Given the description of an element on the screen output the (x, y) to click on. 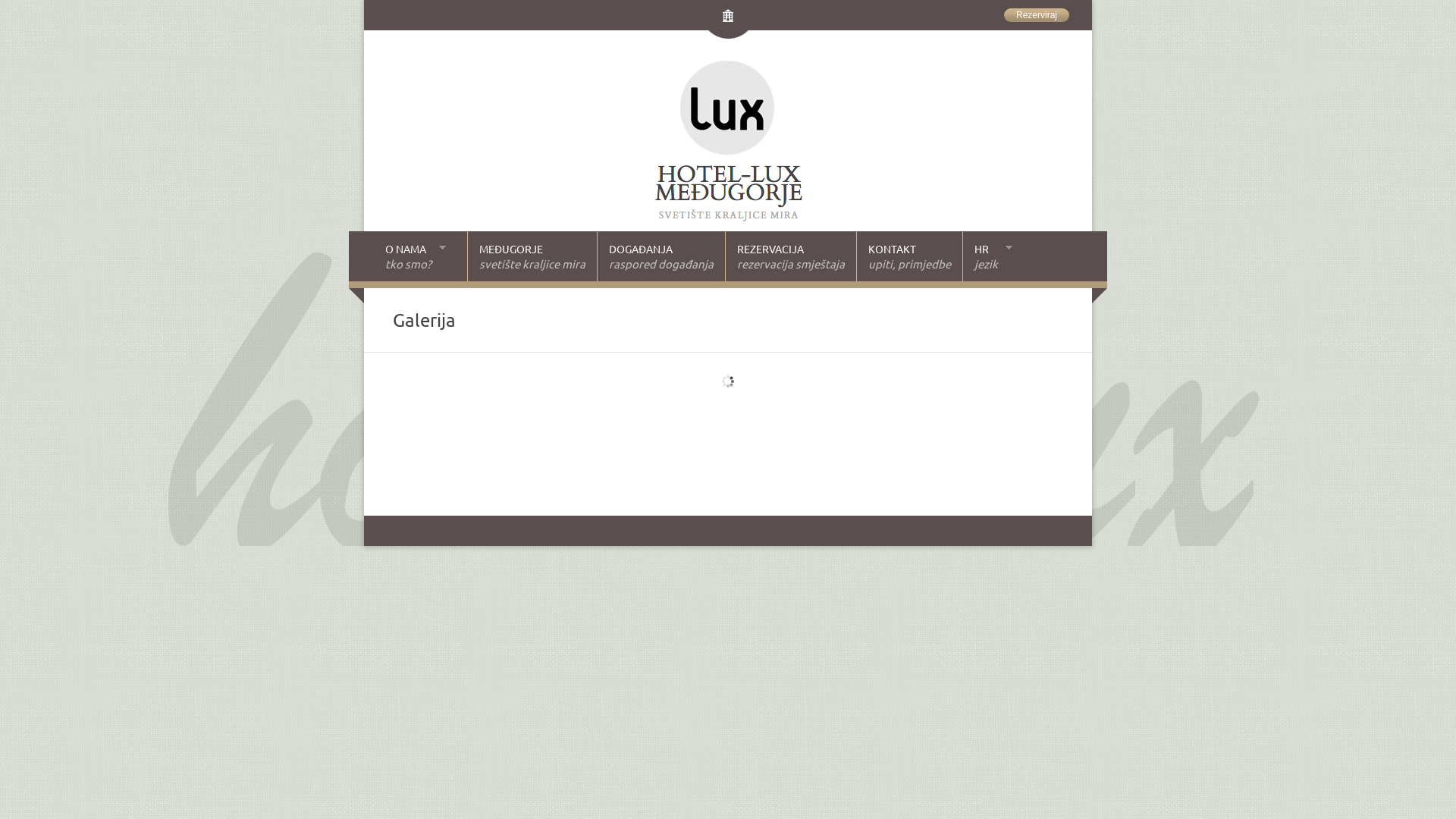
DSC-96 Element type: hover (454, 408)
DSC-31 Element type: hover (758, 467)
DSC-8 Element type: hover (758, 375)
DSC-62 Element type: hover (758, 442)
DSC-95 Element type: hover (606, 408)
DSC-85 Element type: hover (606, 425)
DSC-89 Element type: hover (758, 417)
DSC-75 Element type: hover (606, 433)
DSC-14 Element type: hover (606, 483)
DSC-87 Element type: hover (909, 417)
DSC-99 Element type: hover (606, 400)
DSC-86 Element type: hover (454, 425)
DSC-49 Element type: hover (454, 458)
KONTAKT
upiti, primjedbe Element type: text (908, 256)
DSC-60 Element type: hover (454, 450)
DSC-64 Element type: hover (606, 442)
DSC-103 Element type: hover (606, 383)
DSC-91 Element type: hover (454, 417)
DSC-17 Element type: hover (909, 475)
DSC-10 Element type: hover (909, 483)
DSC-66 Element type: hover (454, 442)
DSC-41 Element type: hover (454, 467)
DSC-13 Element type: hover (758, 483)
DSC-76 Element type: hover (454, 433)
DSC-98 Element type: hover (758, 400)
DSC-47 Element type: hover (606, 458)
DSC-29 Element type: hover (454, 475)
DSC-56 Element type: hover (606, 450)
DSC-30 Element type: hover (909, 467)
DSC-90 Element type: hover (606, 417)
DSC-36 Element type: hover (606, 467)
DSC-6 Element type: hover (454, 383)
DSC-84 Element type: hover (758, 425)
DSC-100 Element type: hover (454, 400)
DSC-102 Element type: hover (758, 392)
DSC-53 Element type: hover (758, 450)
DSC-5 Element type: hover (606, 375)
DSC-18 Element type: hover (758, 475)
DSC-71 Element type: hover (758, 433)
DSC-104 Element type: hover (758, 383)
DSC-61 Element type: hover (909, 442)
DSC-68 Element type: hover (909, 433)
DSC-20 Element type: hover (606, 475)
DSC-15 Element type: hover (454, 483)
DSC-94 Element type: hover (758, 408)
DSC-101 Element type: hover (909, 392)
DSC-9 Element type: hover (454, 492)
DSC-3 Element type: hover (909, 375)
DSC-97 Element type: hover (909, 400)
DSC-92 Element type: hover (909, 408)
DSC-11 Element type: hover (606, 392)
2 Element type: hover (454, 392)
Rezerviraj Element type: text (1036, 14)
4 Element type: hover (909, 425)
DSC-43 Element type: hover (909, 458)
DSC-44 Element type: hover (758, 458)
DSC-105 Element type: hover (909, 383)
DSC-51 Element type: hover (909, 450)
